Given the description of an element on the screen output the (x, y) to click on. 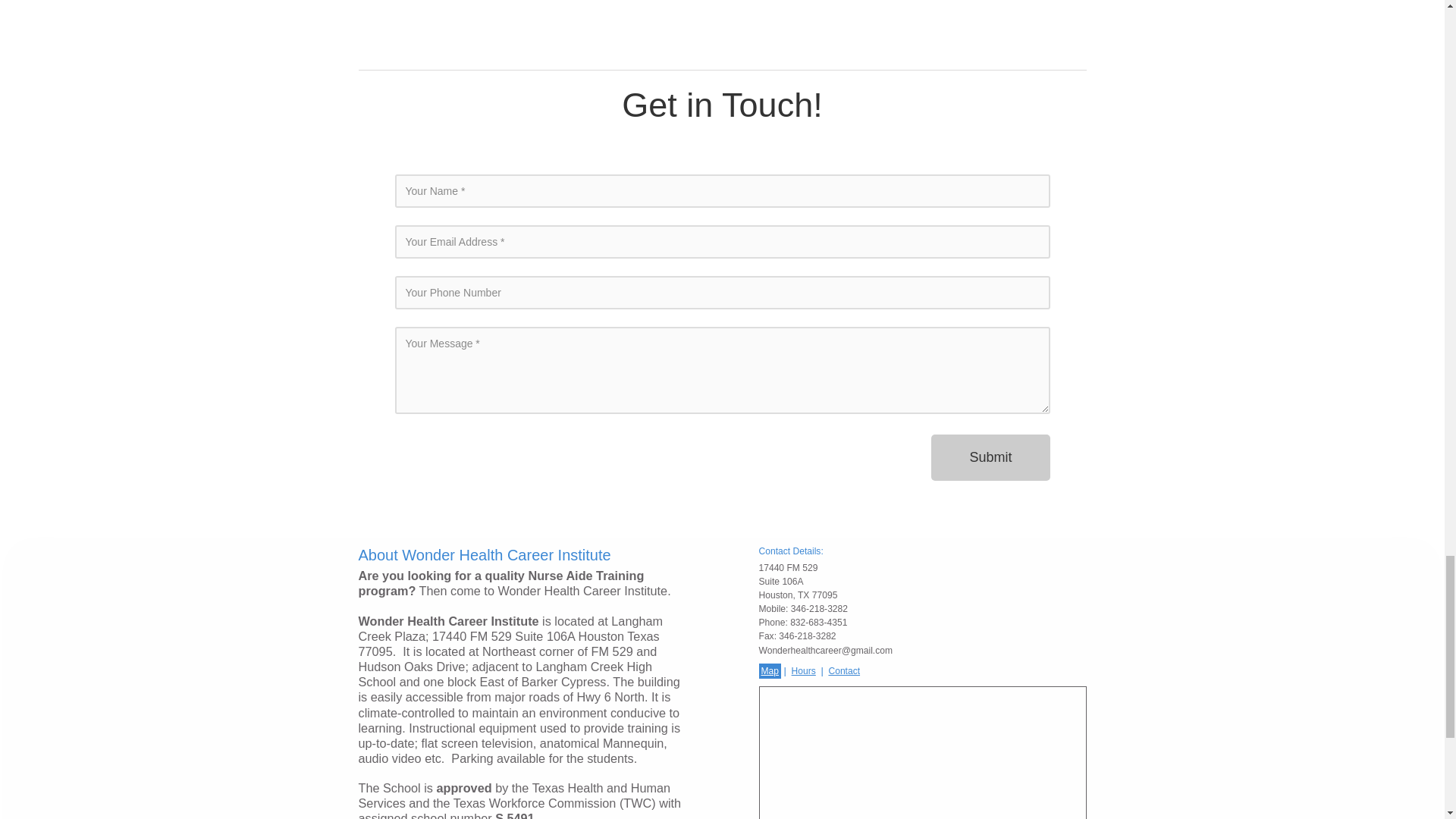
346-218-3282 (818, 608)
Hours (803, 670)
832-683-4351 (818, 622)
Contact (843, 670)
Map (769, 670)
Submit (990, 457)
Submit (990, 457)
